Given the description of an element on the screen output the (x, y) to click on. 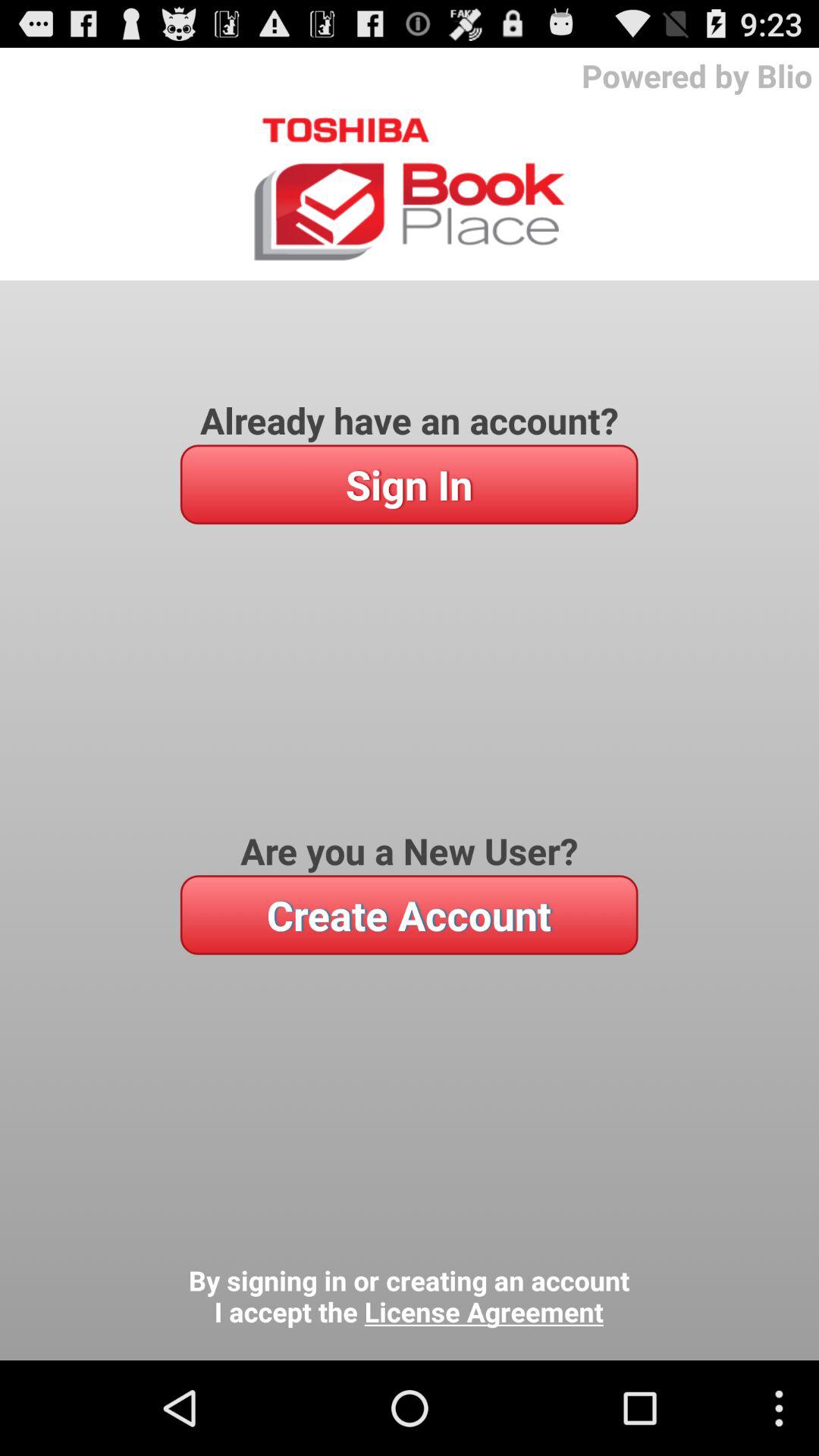
turn on the icon below the create account icon (408, 1296)
